Given the description of an element on the screen output the (x, y) to click on. 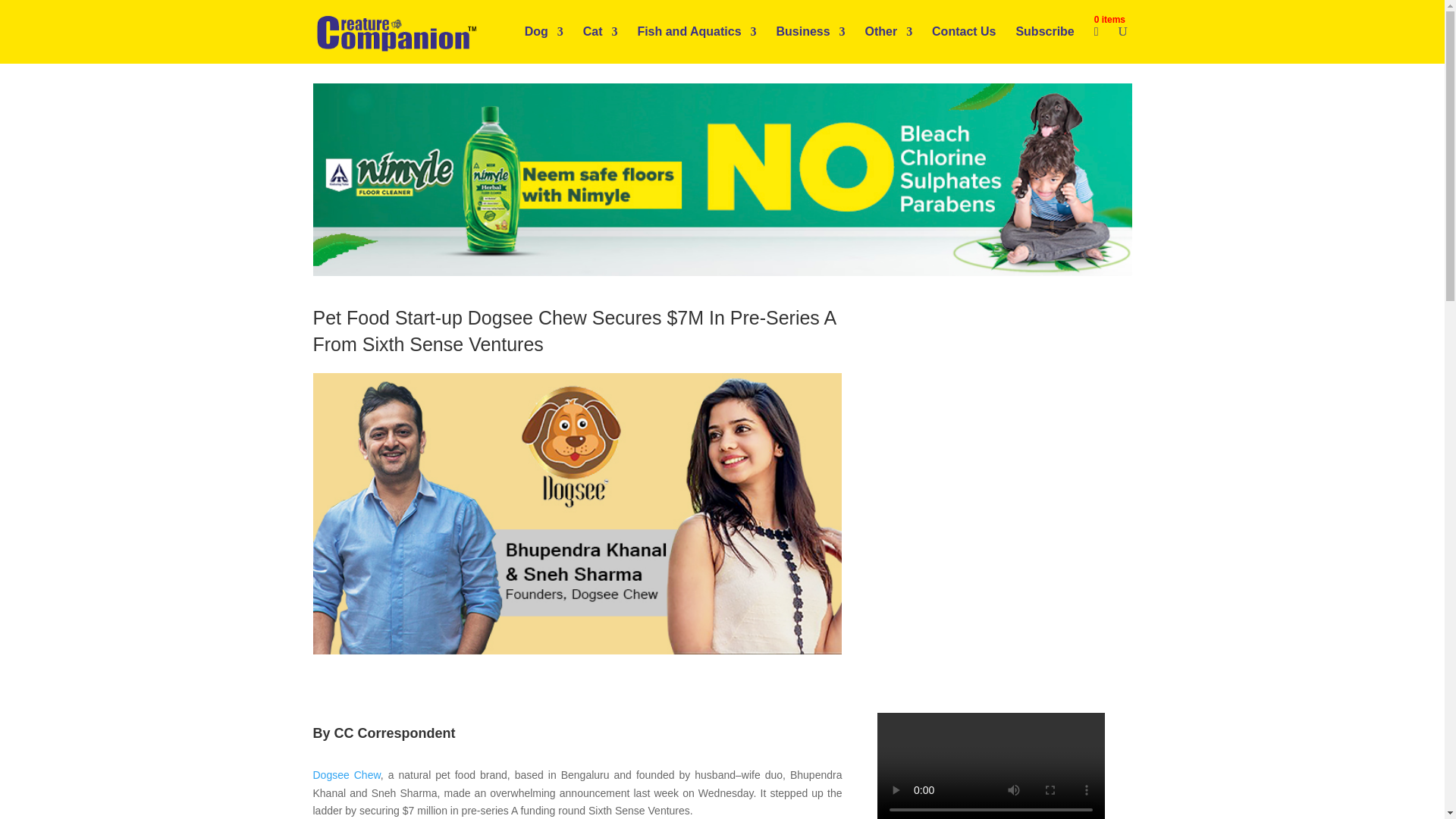
Dogsee Chew (346, 775)
Cat (600, 44)
Dog (543, 44)
Contact Us (963, 44)
Fish and Aquatics (696, 44)
Business (810, 44)
Subscribe (1044, 44)
Other (888, 44)
